Given the description of an element on the screen output the (x, y) to click on. 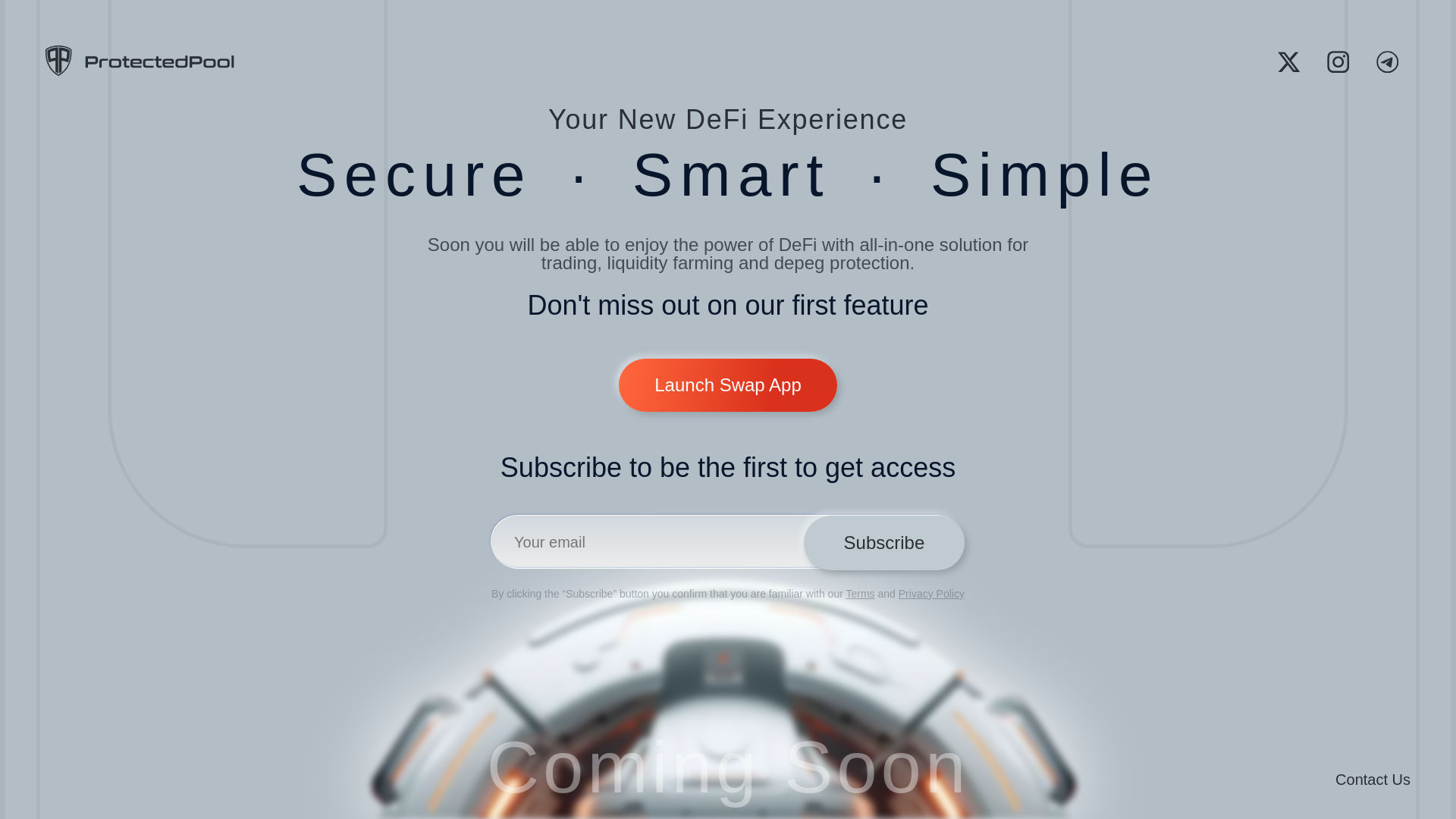
Terms (860, 593)
Subscribe (883, 542)
Contact Us (1372, 779)
Launch Swap App (727, 384)
Privacy Policy (930, 593)
Launch Swap App (727, 366)
